Given the description of an element on the screen output the (x, y) to click on. 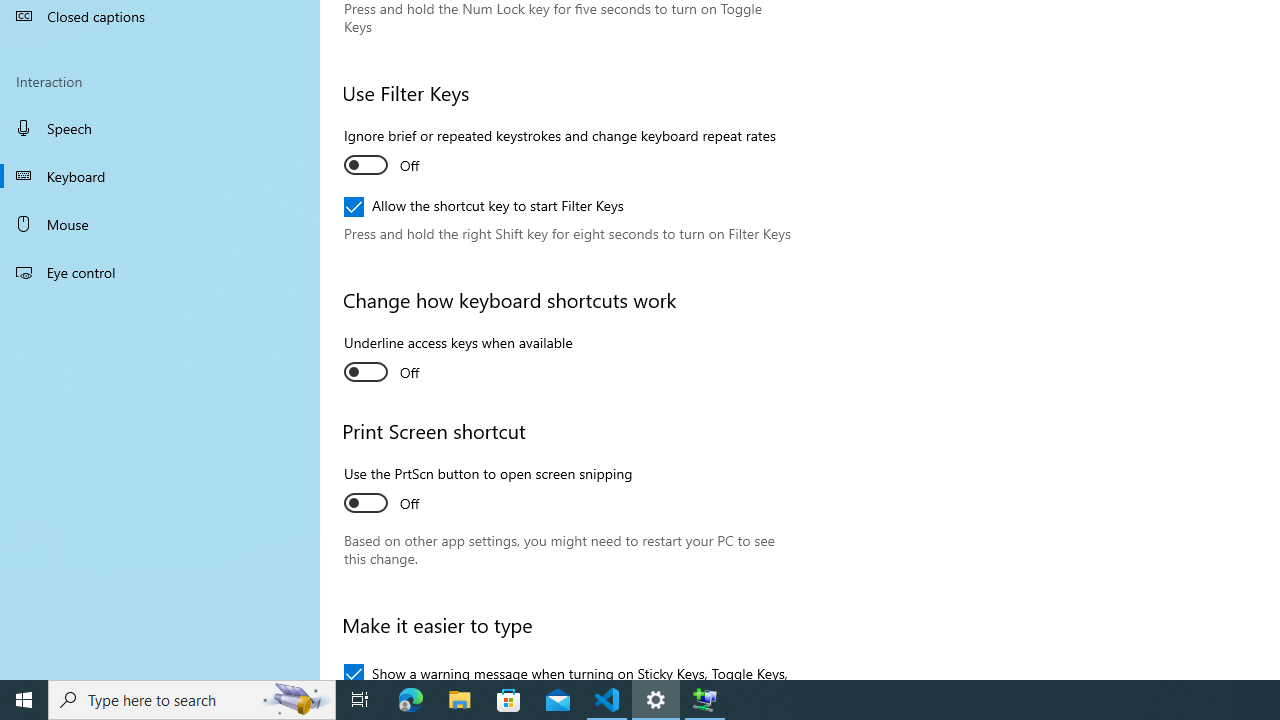
Use the PrtScn button to open screen snipping (488, 491)
Allow the shortcut key to start Filter Keys (484, 206)
Search highlights icon opens search home window (295, 699)
Task View (359, 699)
Visual Studio Code - 1 running window (607, 699)
Underline access keys when available (458, 360)
Type here to search (191, 699)
Start (24, 699)
Extensible Wizards Host Process - 1 running window (704, 699)
Microsoft Store (509, 699)
Keyboard (160, 175)
Settings - 1 running window (656, 699)
